Given the description of an element on the screen output the (x, y) to click on. 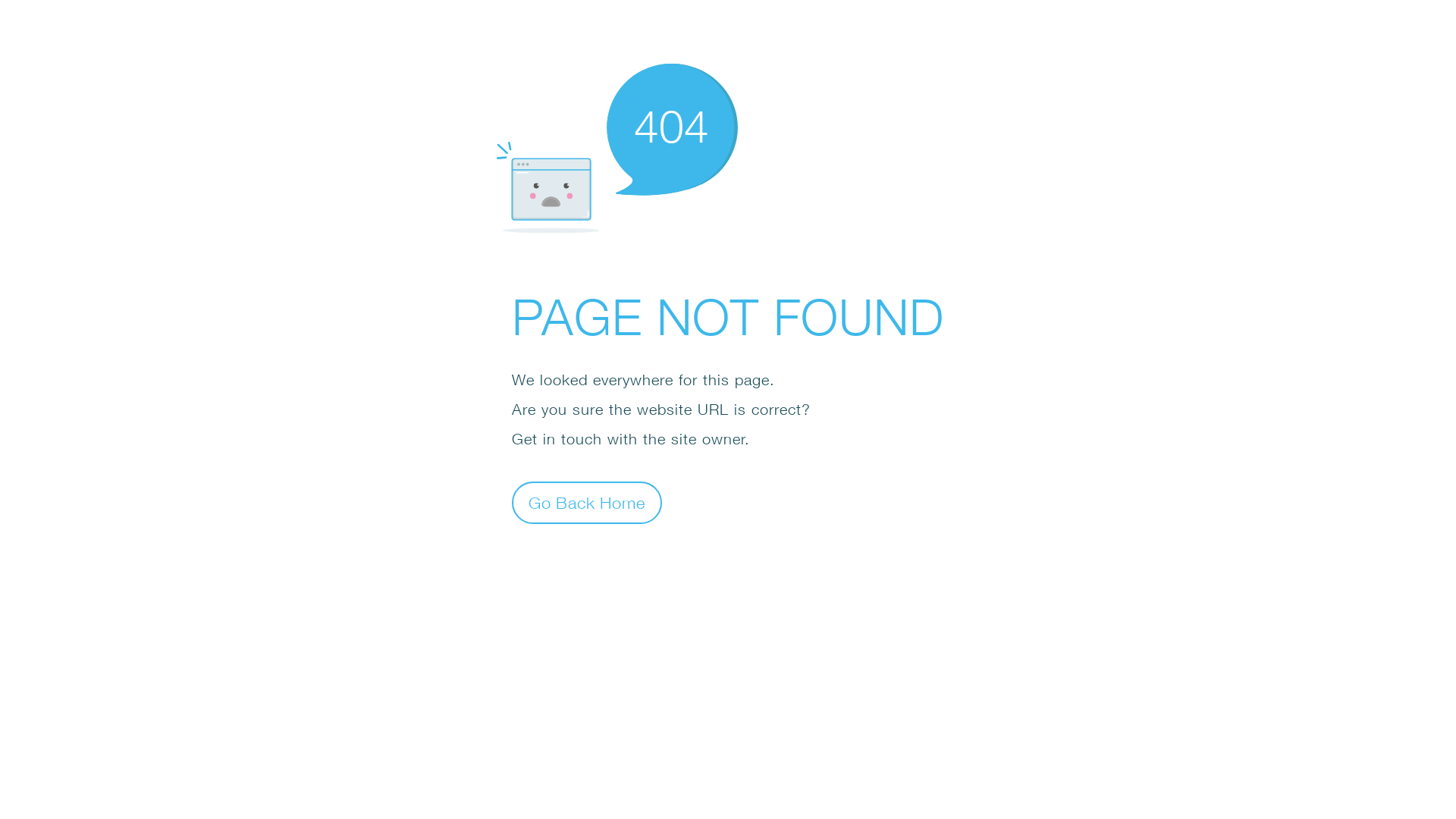
Go Back Home Element type: text (586, 502)
